Given the description of an element on the screen output the (x, y) to click on. 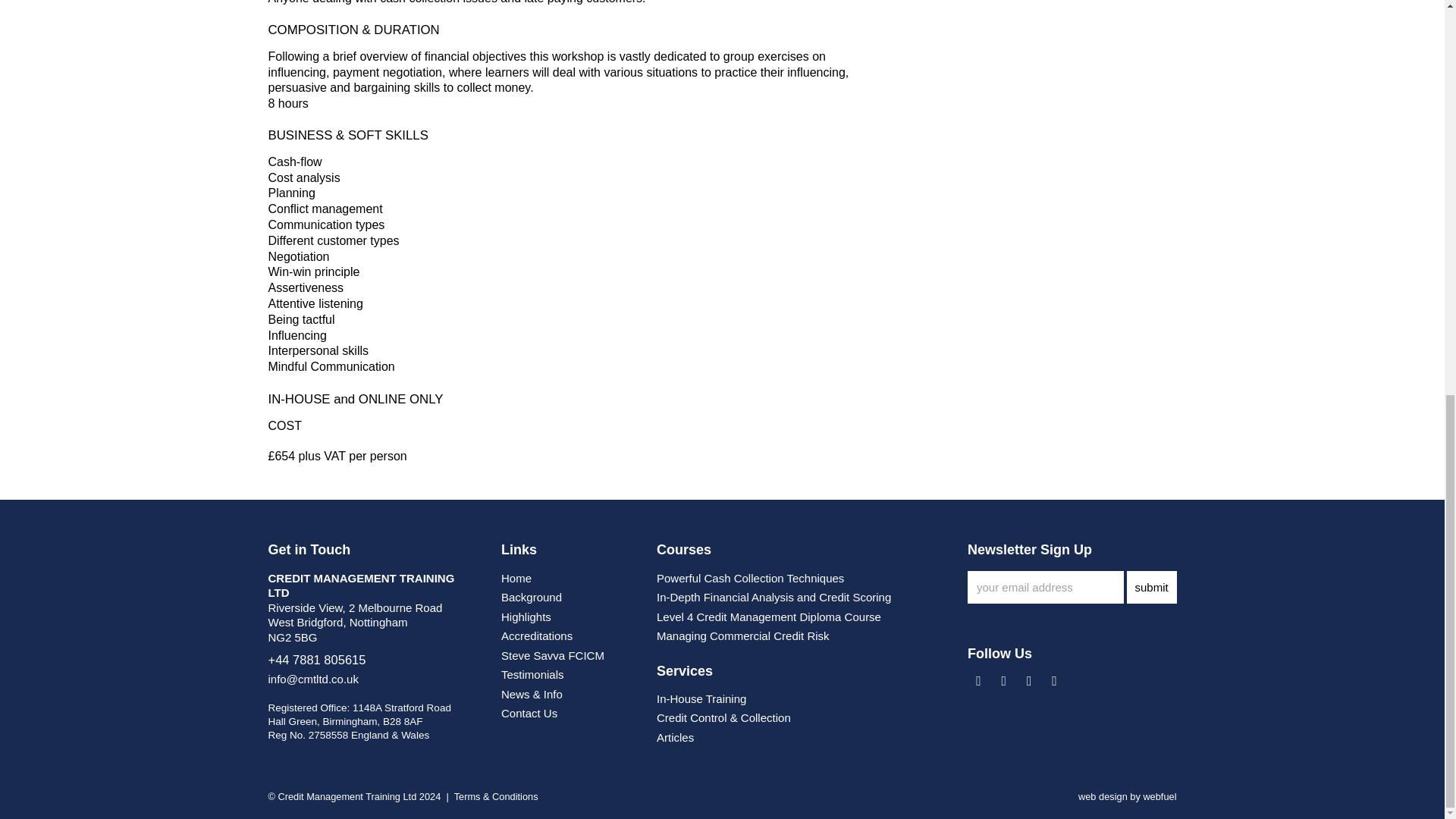
Home (515, 577)
Highlights (525, 616)
Accreditations (536, 635)
Background (531, 596)
